Given the description of an element on the screen output the (x, y) to click on. 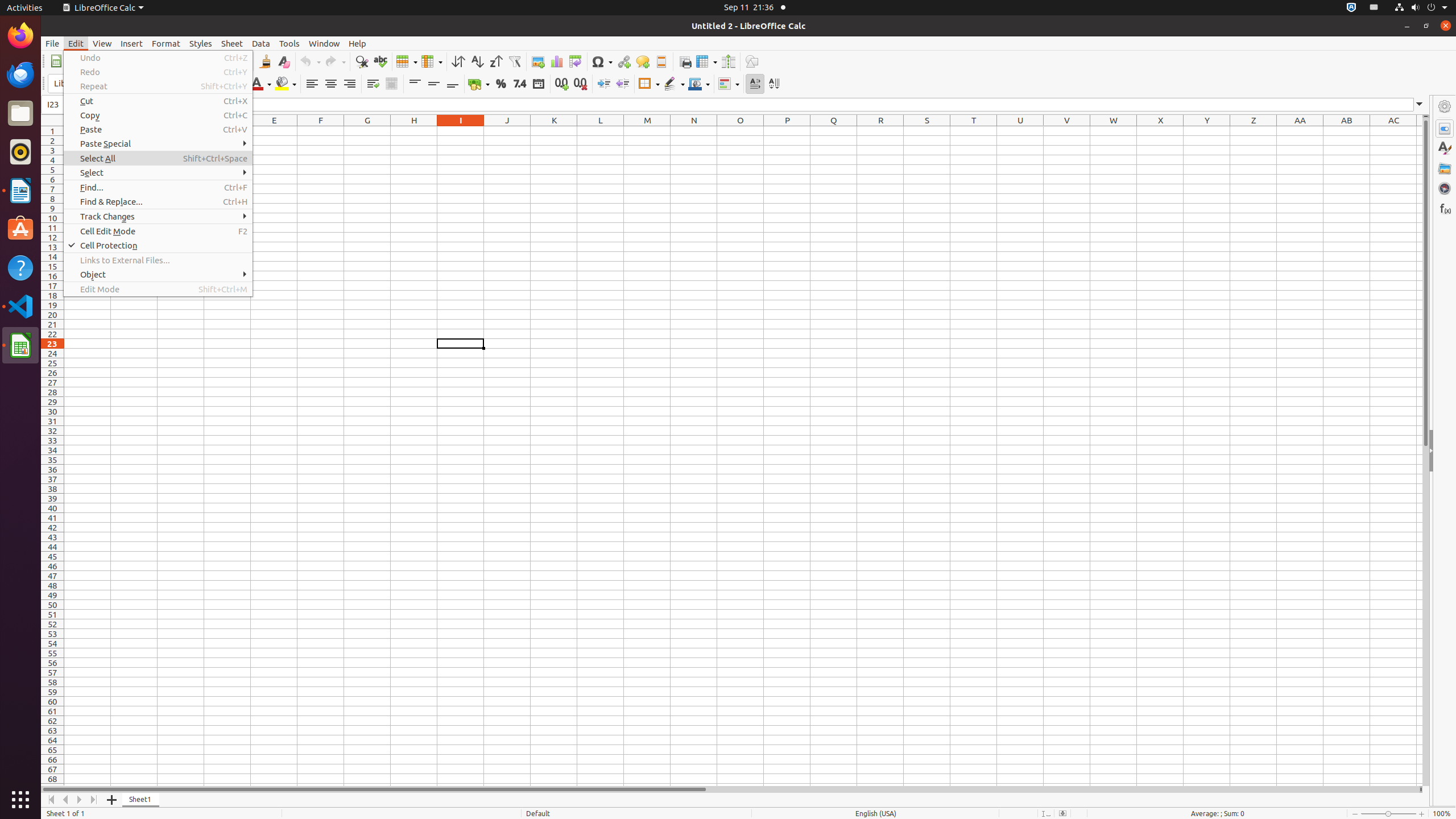
M1 Element type: table-cell (646, 130)
Center Vertically Element type: push-button (433, 83)
U1 Element type: table-cell (1020, 130)
Date Element type: push-button (537, 83)
O1 Element type: table-cell (740, 130)
